Given the description of an element on the screen output the (x, y) to click on. 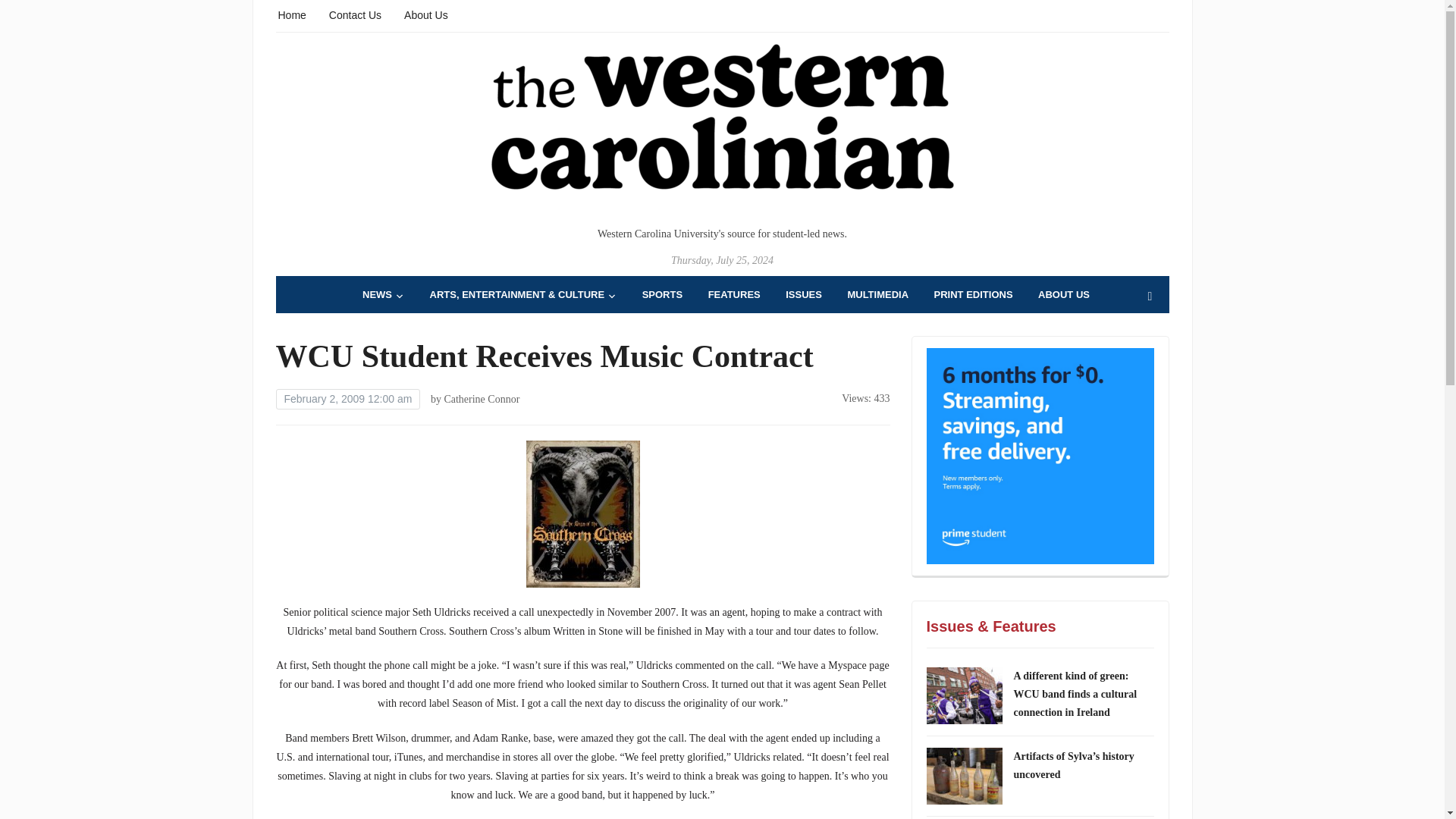
FEATURES (733, 294)
Contact Us (355, 14)
About Us (426, 14)
Search (1149, 296)
NEWS (383, 294)
SPORTS (662, 294)
ABOUT US (1063, 294)
ISSUES (804, 294)
MULTIMEDIA (877, 294)
PRINT EDITIONS (973, 294)
Home (291, 14)
